Given the description of an element on the screen output the (x, y) to click on. 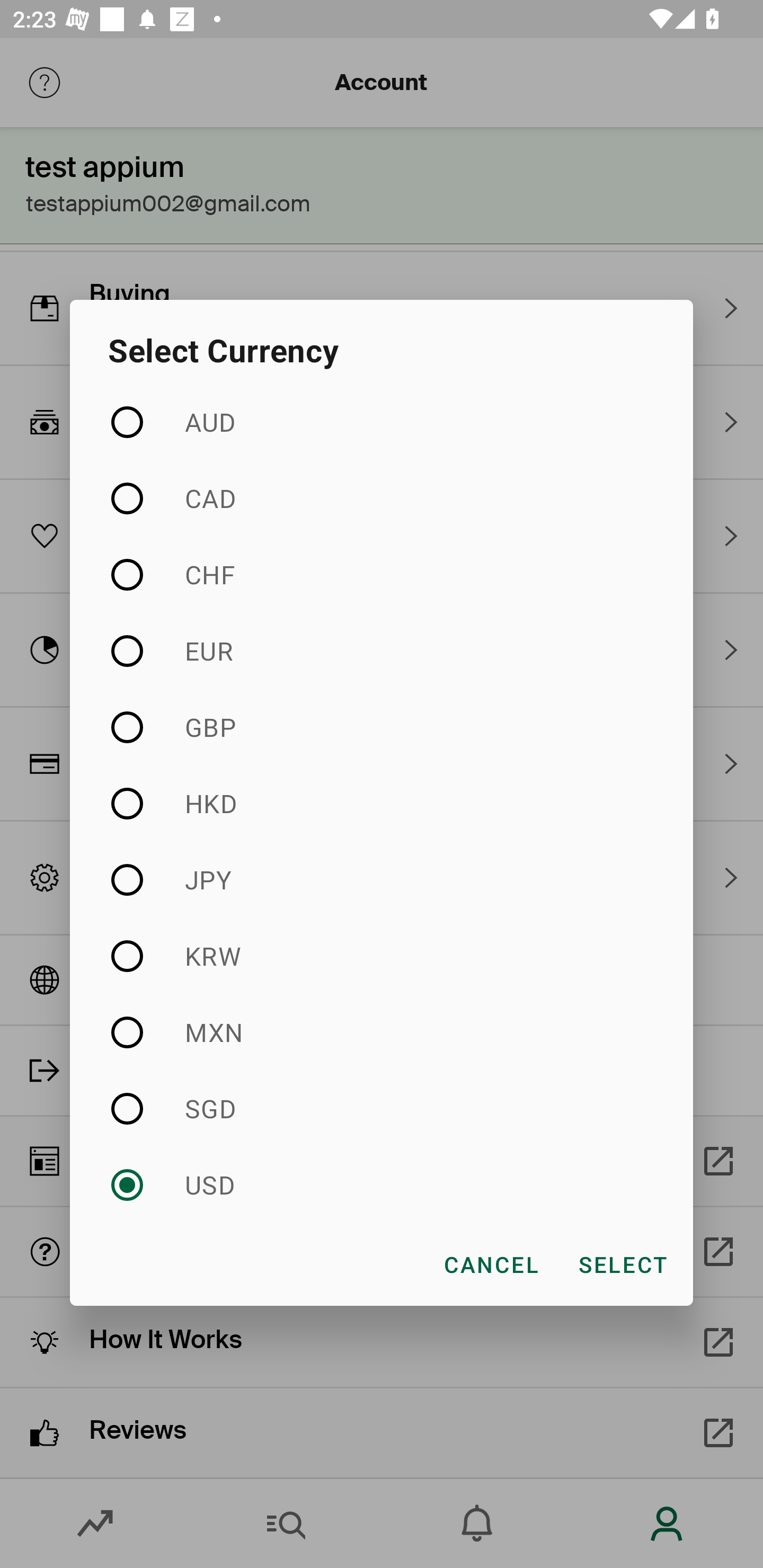
AUD (381, 422)
CAD (381, 498)
CHF (381, 574)
EUR (381, 651)
GBP (381, 727)
HKD (381, 803)
JPY (381, 879)
KRW (381, 955)
MXN (381, 1032)
SGD (381, 1108)
USD (381, 1184)
CANCEL (490, 1264)
SELECT (622, 1264)
